Given the description of an element on the screen output the (x, y) to click on. 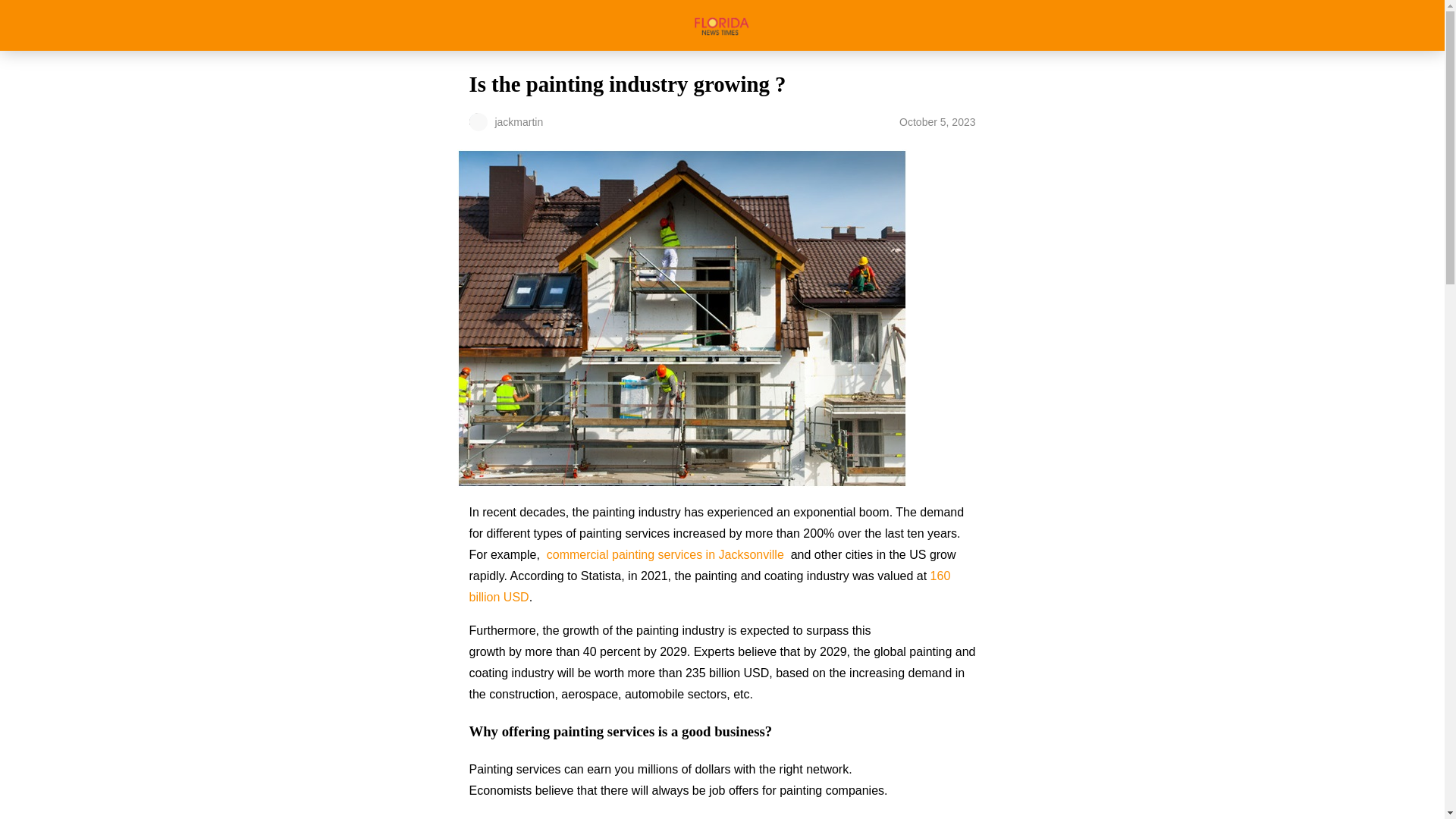
Floridanewstimes.com (721, 25)
commercial painting services in Jacksonville (665, 554)
160 billion USD (709, 586)
